Given the description of an element on the screen output the (x, y) to click on. 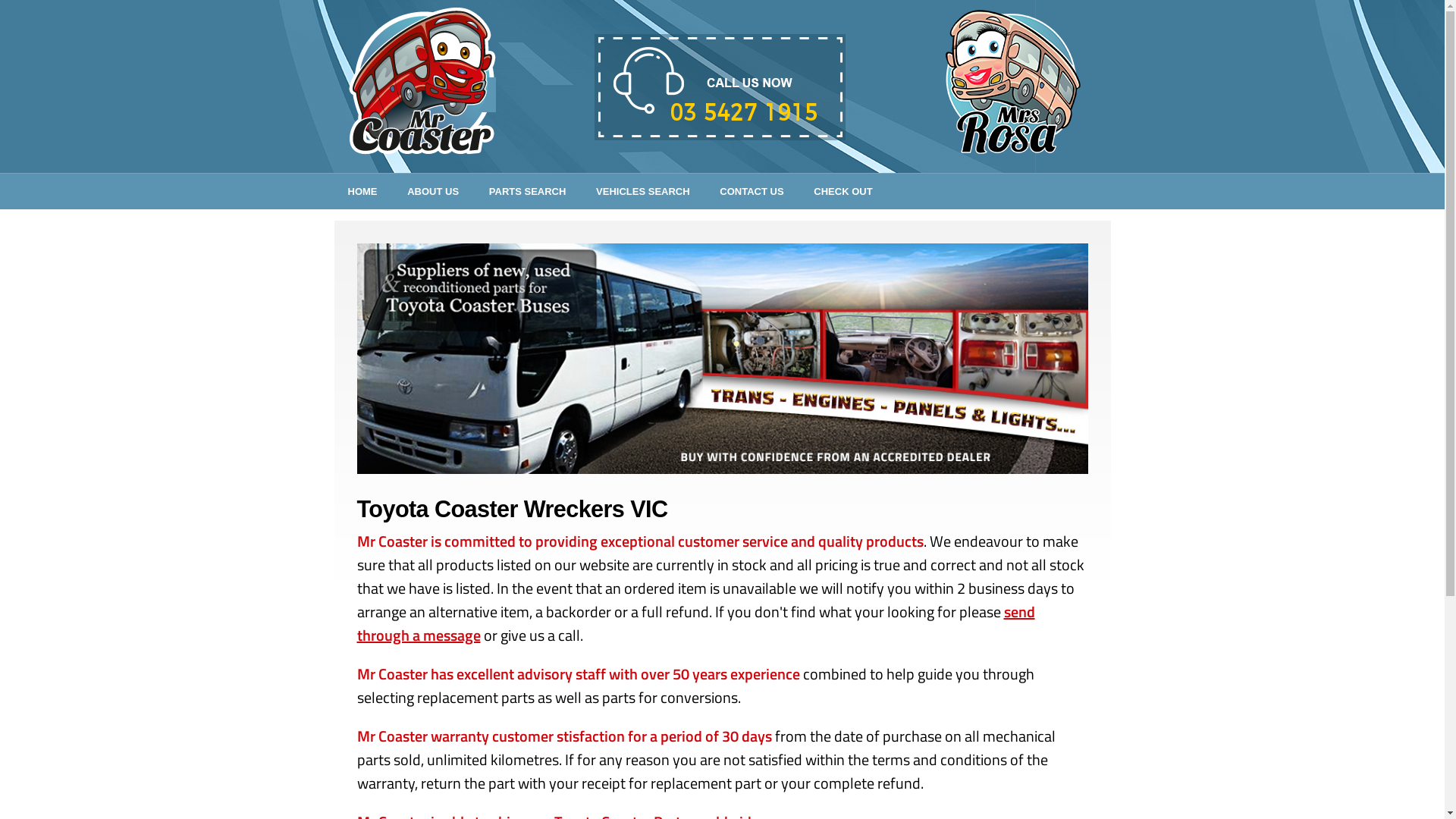
VEHICLES SEARCH Element type: text (642, 191)
Toyota Coaster Parts Wrecking Element type: hover (721, 358)
CHECK OUT Element type: text (842, 191)
ABOUT US Element type: text (432, 191)
CONTACT US Element type: text (751, 191)
HOME Element type: text (361, 191)
PARTS SEARCH Element type: text (527, 191)
send through a message Element type: text (695, 622)
